Given the description of an element on the screen output the (x, y) to click on. 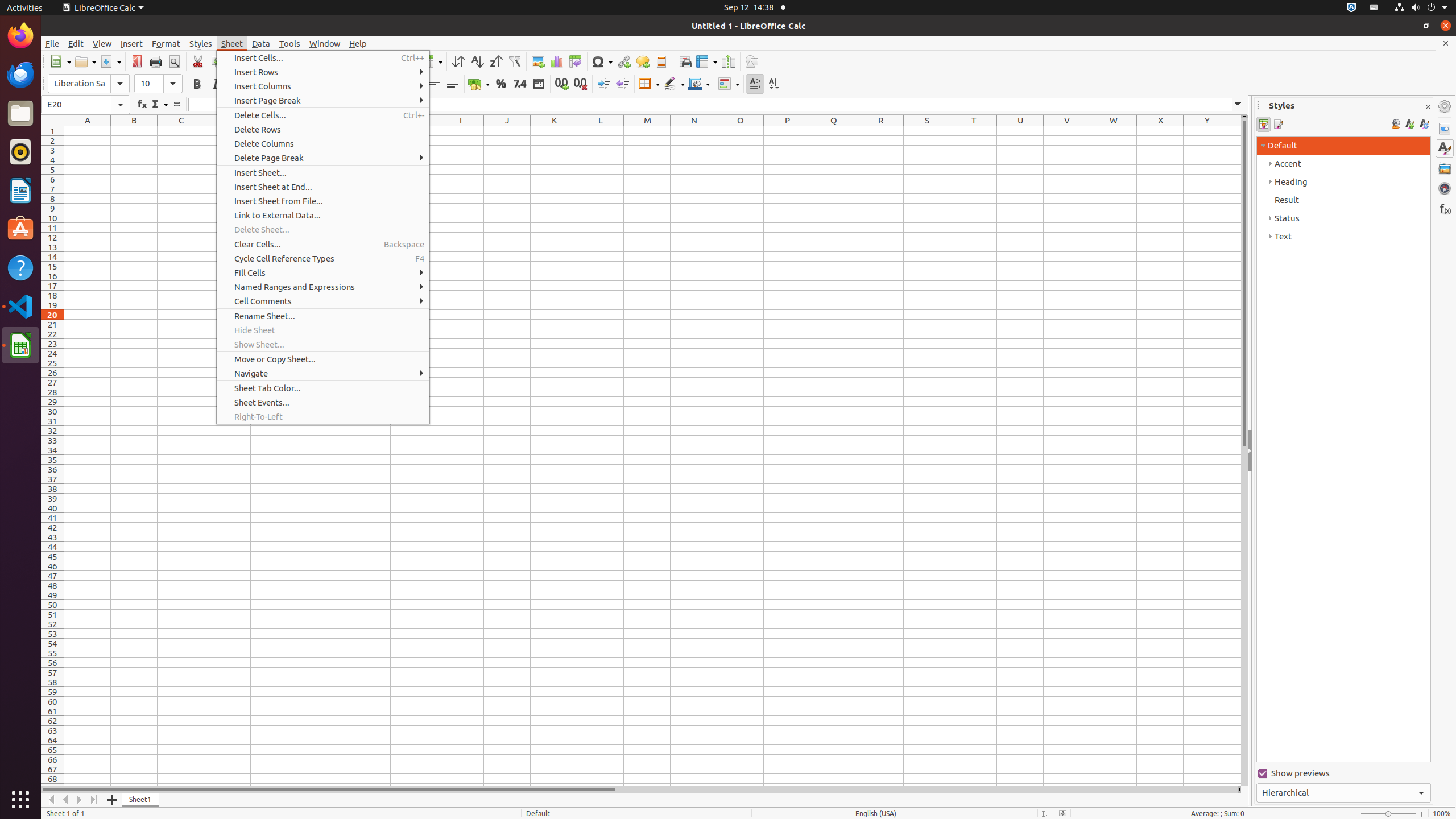
X1 Element type: table-cell (1159, 130)
J1 Element type: table-cell (507, 130)
Delete Page Break Element type: menu (322, 157)
C1 Element type: table-cell (180, 130)
U1 Element type: table-cell (1020, 130)
